Given the description of an element on the screen output the (x, y) to click on. 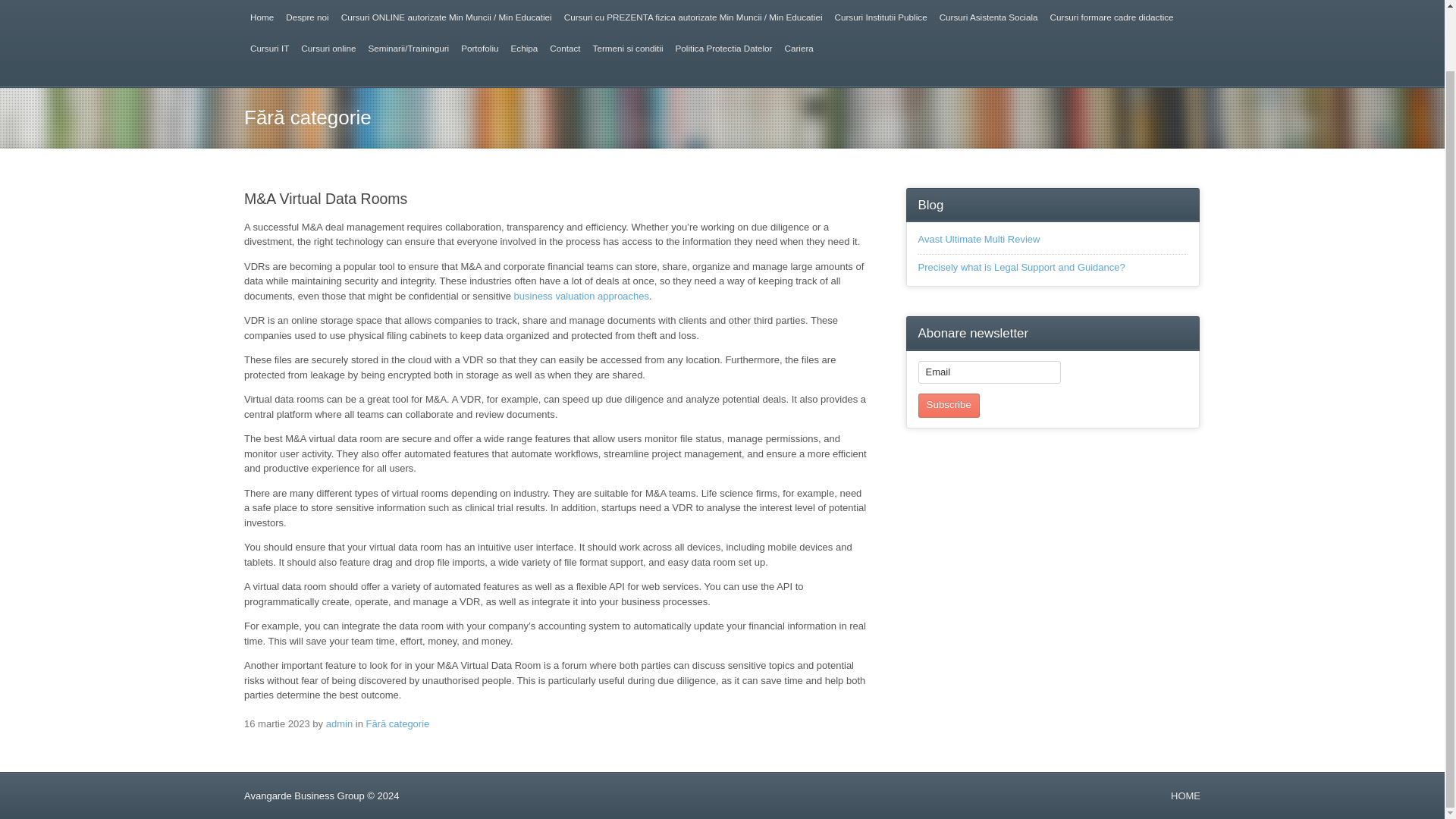
Portofoliu (478, 48)
Cursuri online (328, 48)
business valuation approaches (581, 296)
Contact (564, 48)
cursuri acreditate (261, 17)
admin (339, 723)
Cursuri Asistenta Sociala (988, 17)
Subscribe (948, 405)
HOME (1184, 795)
Politica Protectia Datelor (722, 48)
Avast Ultimate Multi Review (979, 238)
Echipa (524, 48)
Home (261, 17)
Articole de admin (339, 723)
Termeni si conditii (627, 48)
